Given the description of an element on the screen output the (x, y) to click on. 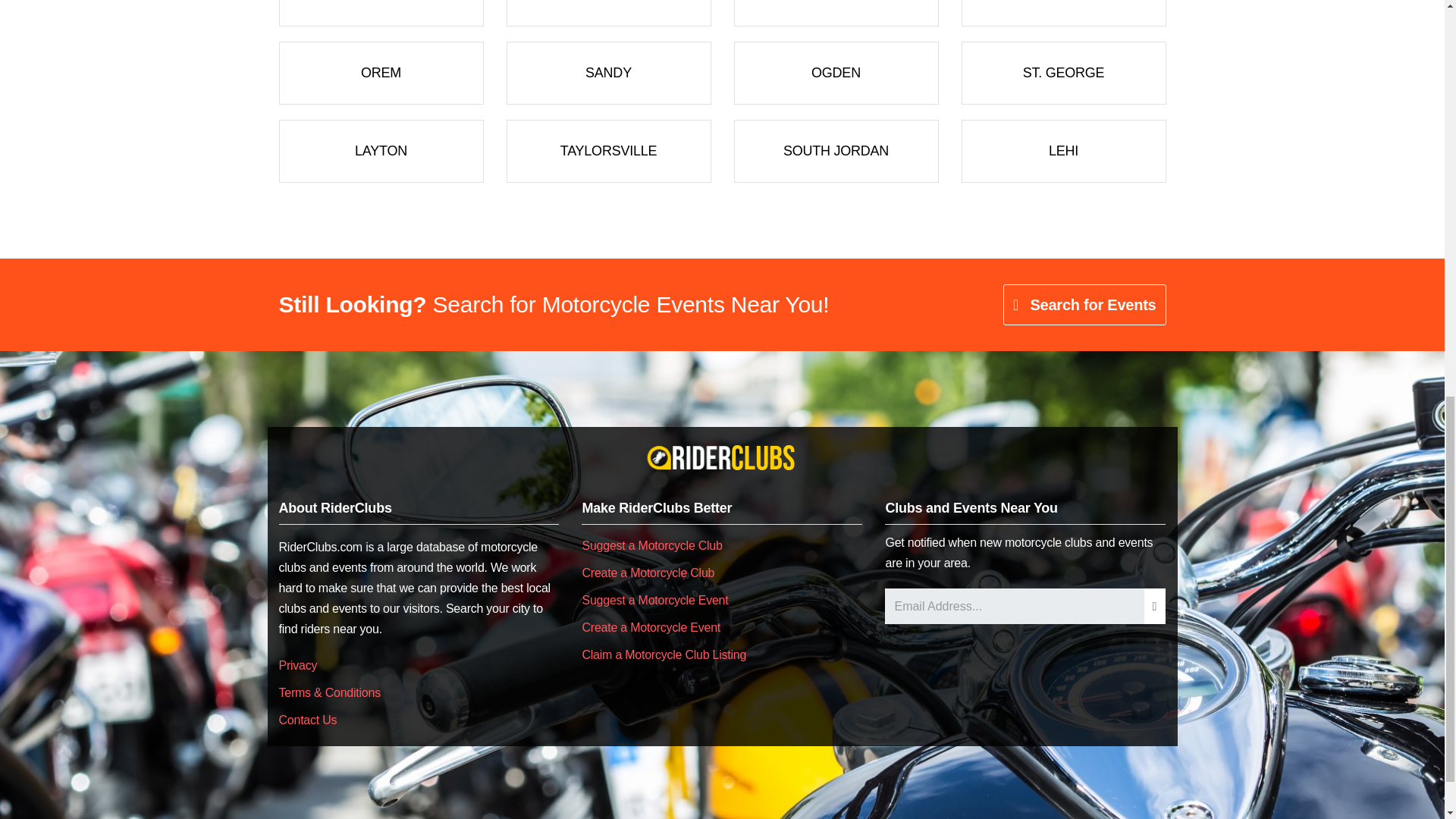
Claim a Motorcycle Club Listing (662, 654)
OREM (381, 72)
Contact Us (308, 719)
Category (608, 13)
TAYLORSVILLE (608, 150)
WEST VALLEY CITY (608, 13)
Privacy (298, 665)
WEST JORDAN (1063, 13)
Create a Motorcycle Event (650, 626)
Category (836, 150)
